Given the description of an element on the screen output the (x, y) to click on. 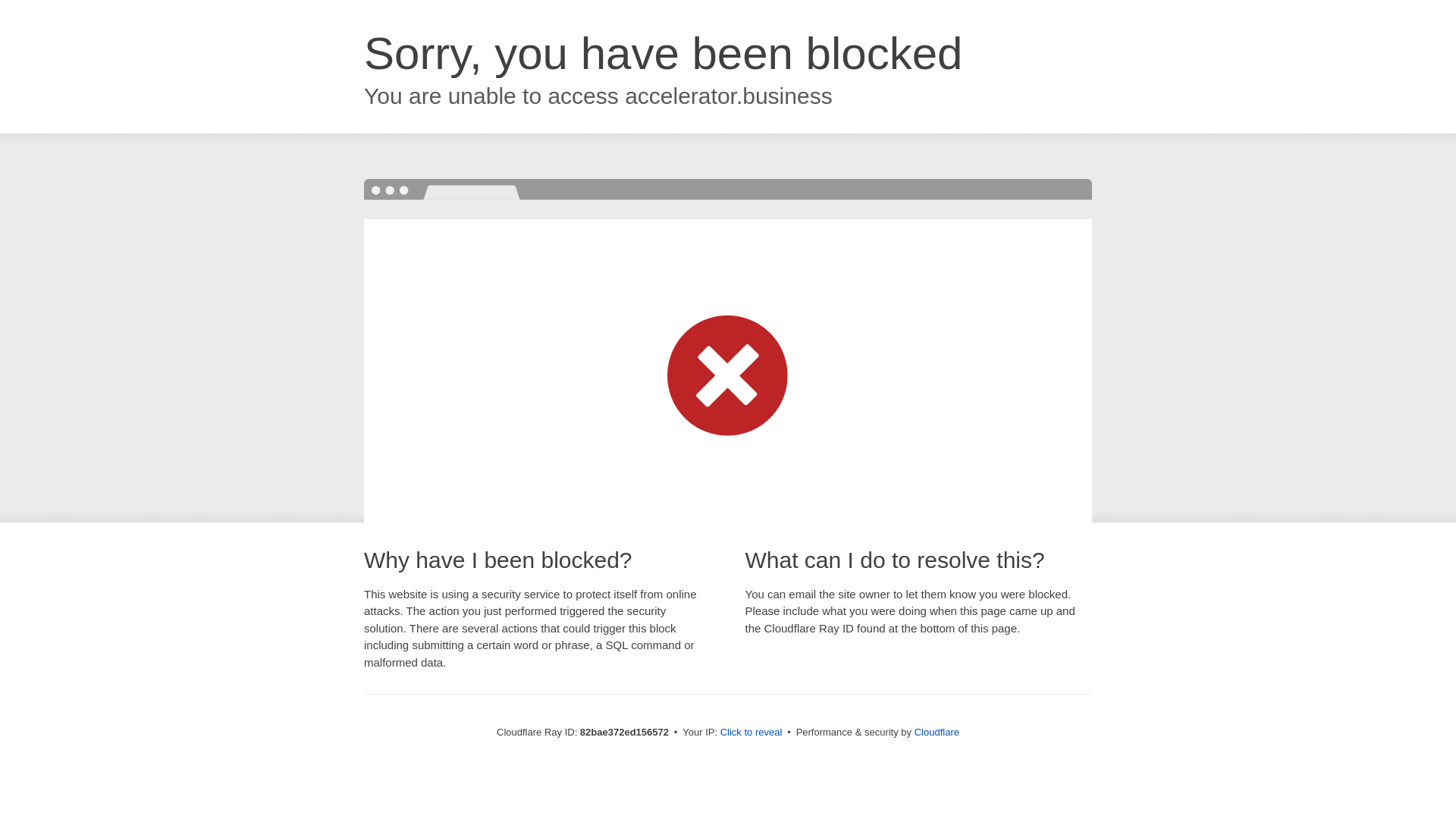
Click to reveal Element type: text (751, 732)
Cloudflare Element type: text (936, 731)
